Given the description of an element on the screen output the (x, y) to click on. 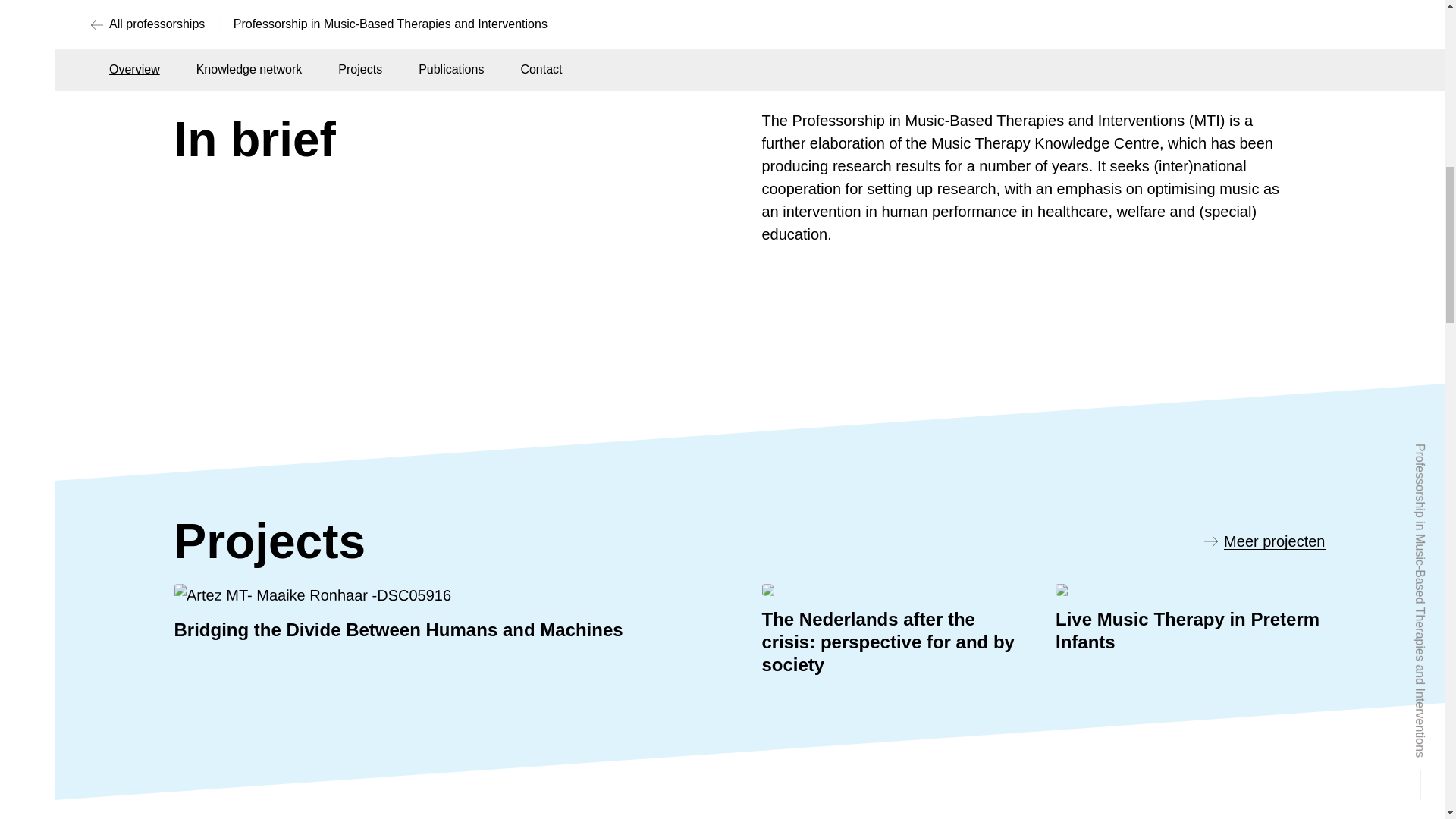
Live Music Therapy in Preterm Infants (1189, 632)
Bridging the Divide Between Humans and Machines (456, 612)
Meer projecten (1264, 540)
